Given the description of an element on the screen output the (x, y) to click on. 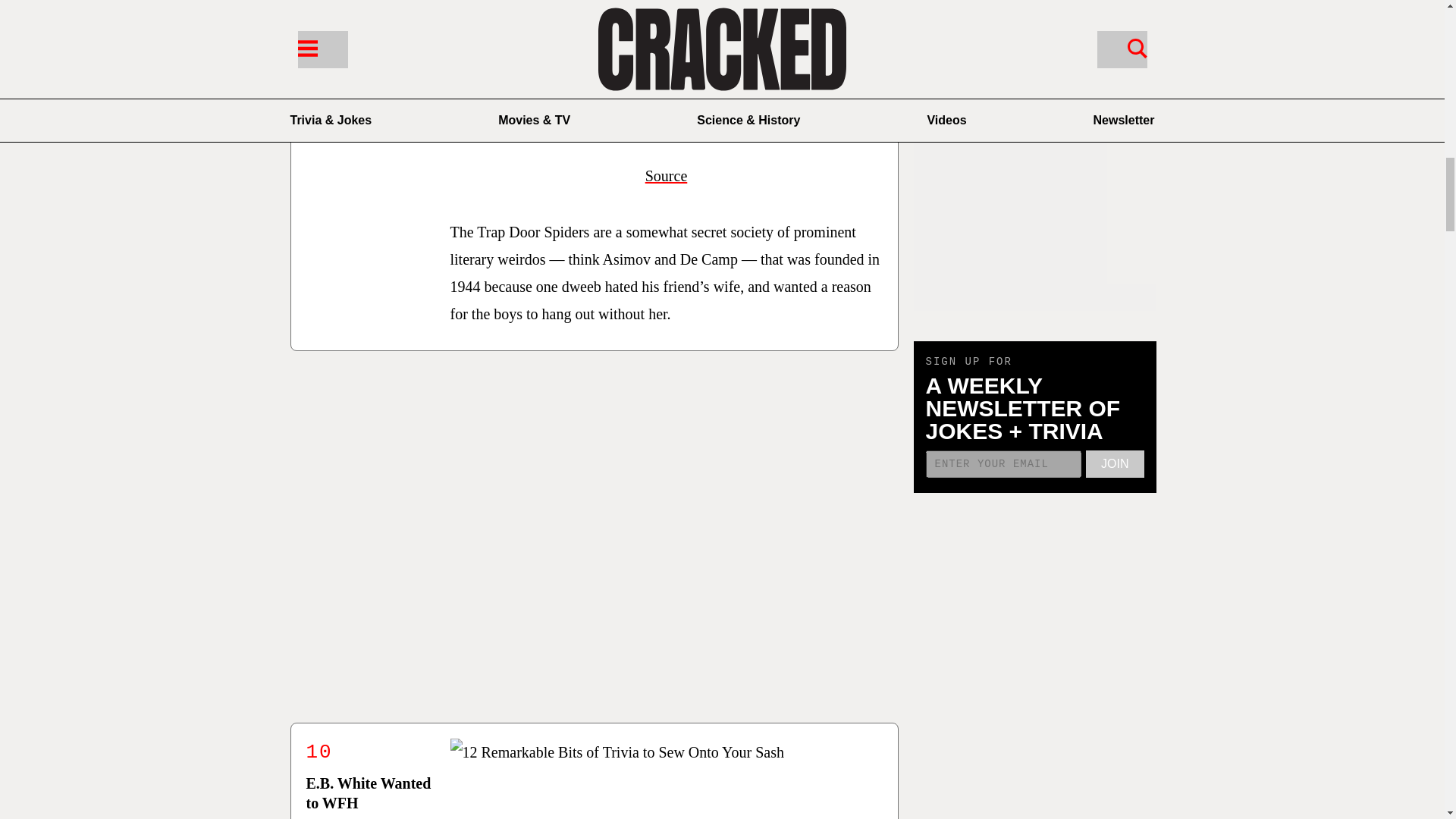
Source (666, 175)
